Given the description of an element on the screen output the (x, y) to click on. 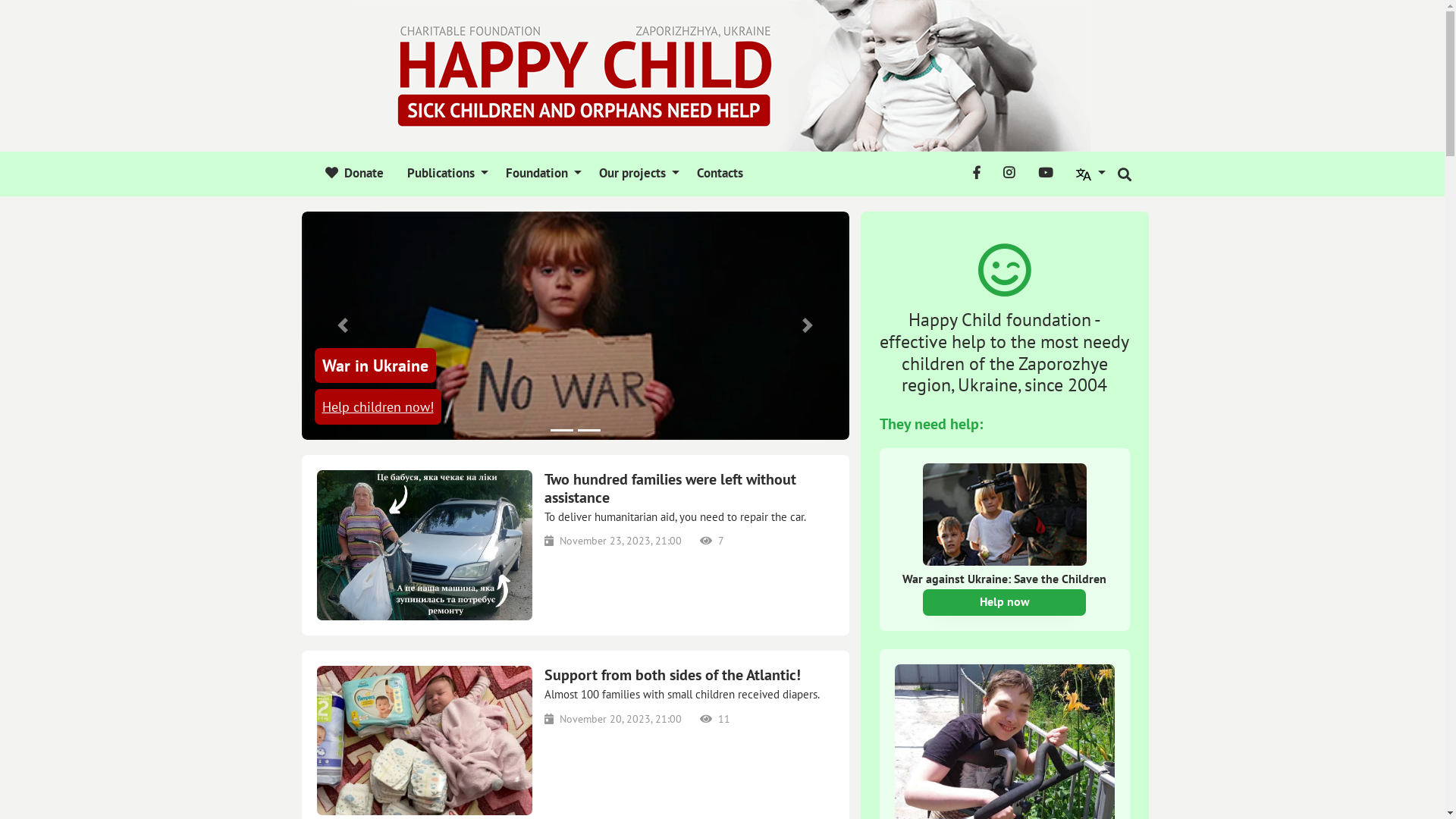
Two hundred families were left without assistance Element type: text (689, 488)
Contacts Element type: text (717, 173)
Donate Element type: text (354, 173)
Previous Element type: text (342, 325)
Help now Element type: text (1003, 602)
Our projects Element type: text (636, 173)
Next Element type: text (807, 325)
Foundation Element type: text (540, 173)
War against Ukraine: Save the Children Element type: text (1004, 590)
They need help: Element type: text (930, 423)
Help children now! Element type: text (376, 406)
Support from both sides of the Atlantic! Element type: text (689, 674)
Publications Element type: text (444, 173)
